Given the description of an element on the screen output the (x, y) to click on. 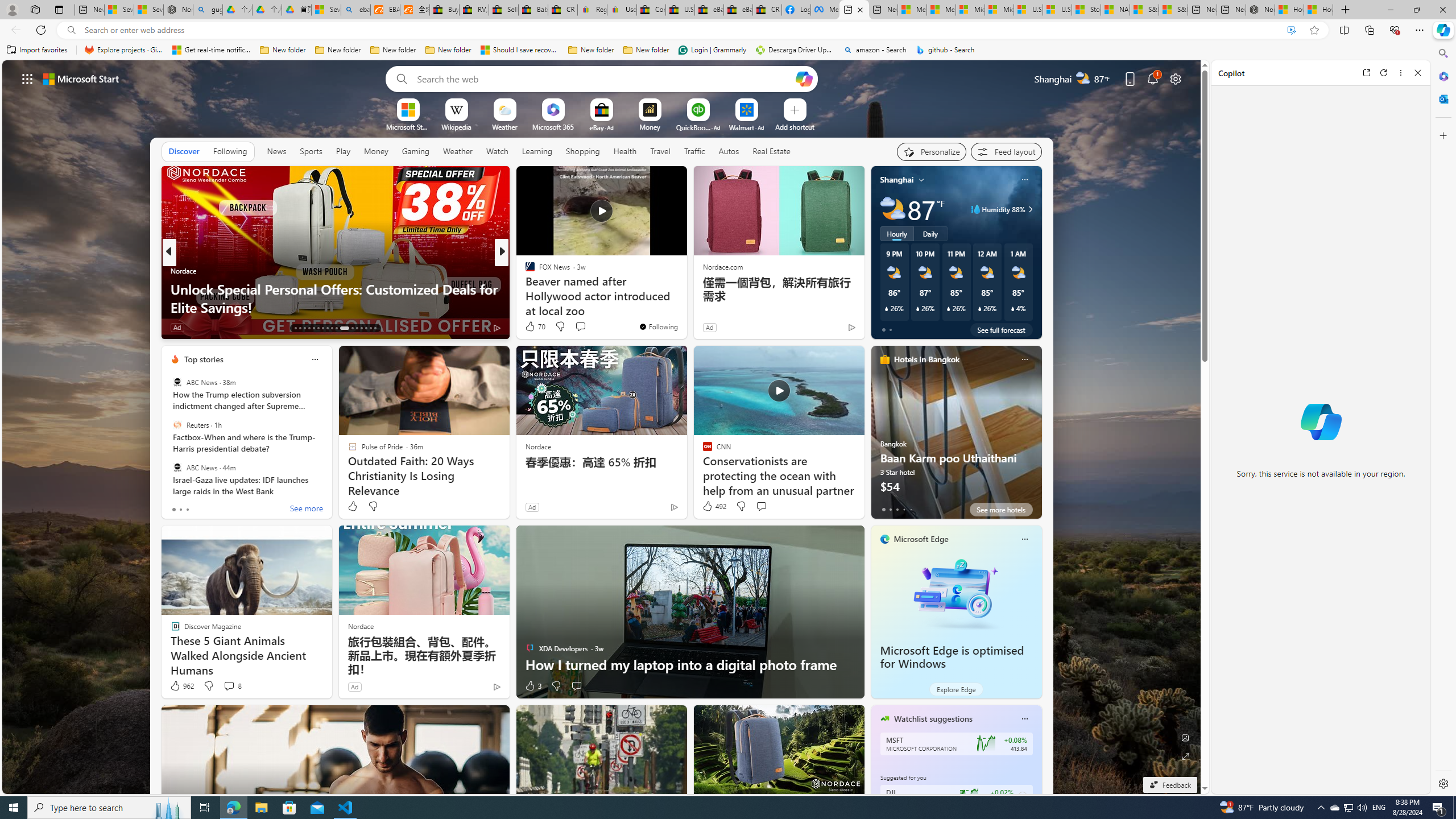
Gaming (415, 151)
AutomationID: tab-15 (304, 328)
View comments 8 Comment (232, 685)
github - Search (945, 49)
Hourly (896, 233)
29 Like (530, 327)
Traffic (694, 151)
More options (1401, 72)
Sports (310, 151)
Like (352, 505)
BRAINY DOSE (524, 270)
SlashGear (524, 288)
Nordace (360, 625)
